Given the description of an element on the screen output the (x, y) to click on. 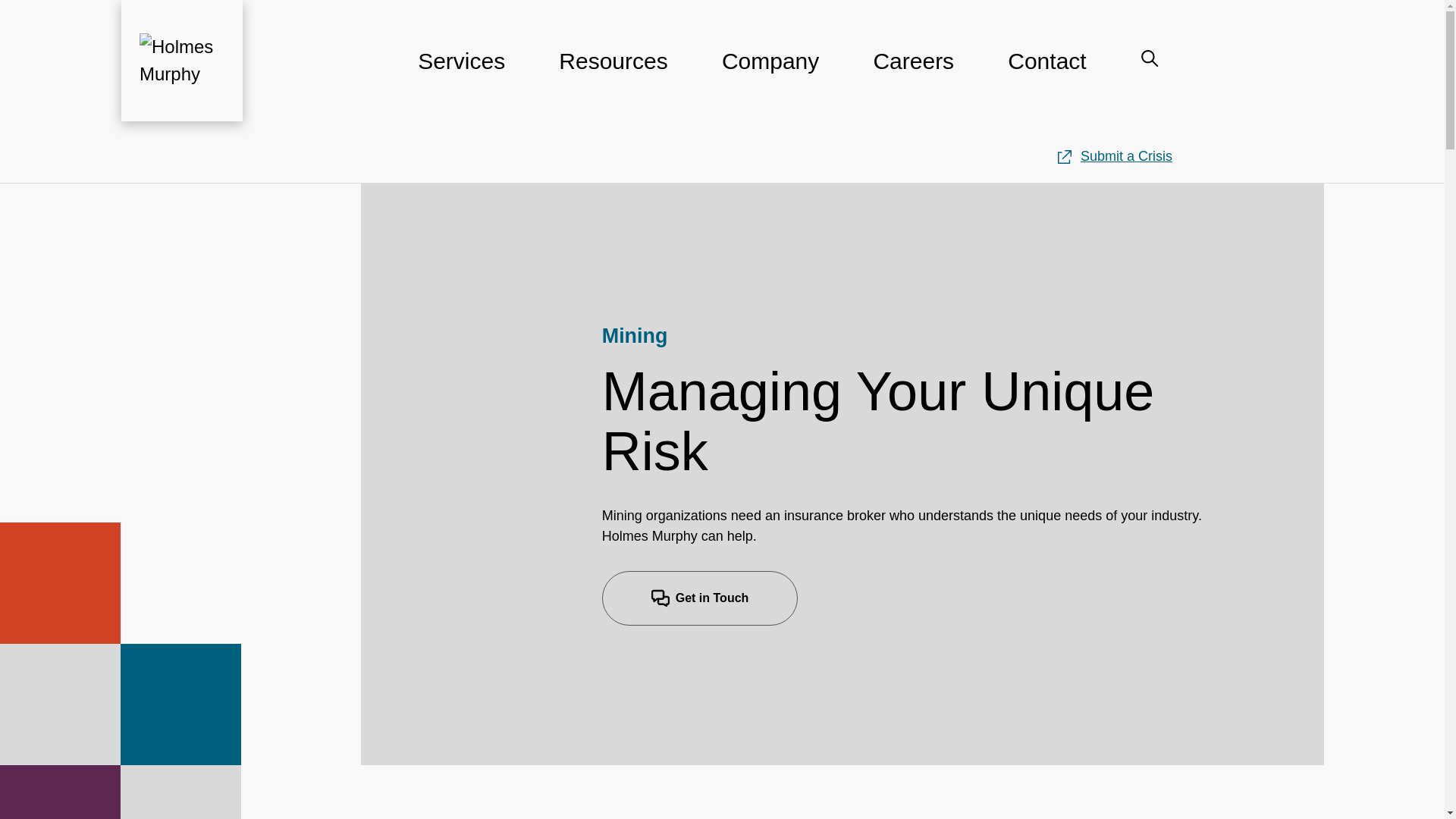
Company (770, 69)
Resources (612, 69)
Careers (912, 69)
Contact (1046, 69)
Services (461, 69)
